Given the description of an element on the screen output the (x, y) to click on. 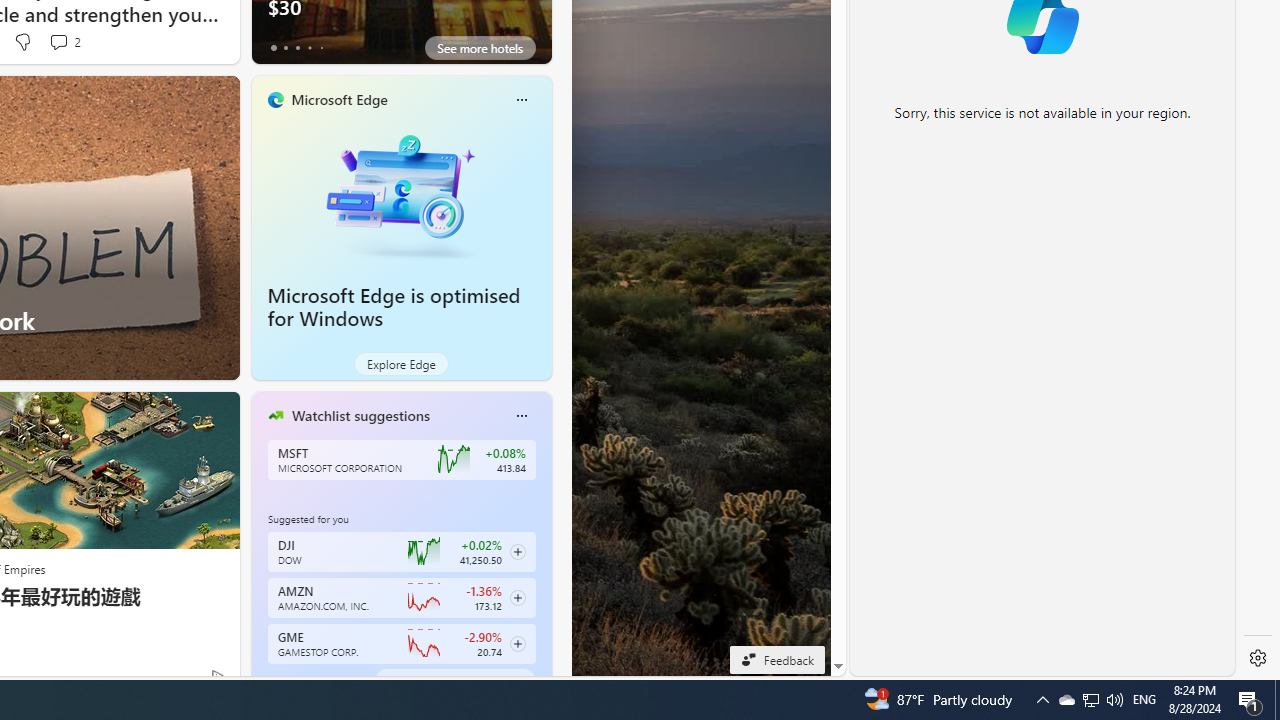
Feedback (777, 659)
Explore Edge (401, 363)
More options (521, 415)
tab-3 (309, 679)
See more hotels (479, 47)
tab-0 (273, 679)
Settings (1258, 658)
tab-4 (320, 679)
Class: follow-button  m (517, 643)
Microsoft Edge is optimised for Windows (393, 307)
Microsoft Edge is optimised for Windows (401, 193)
tab-2 (297, 679)
